Given the description of an element on the screen output the (x, y) to click on. 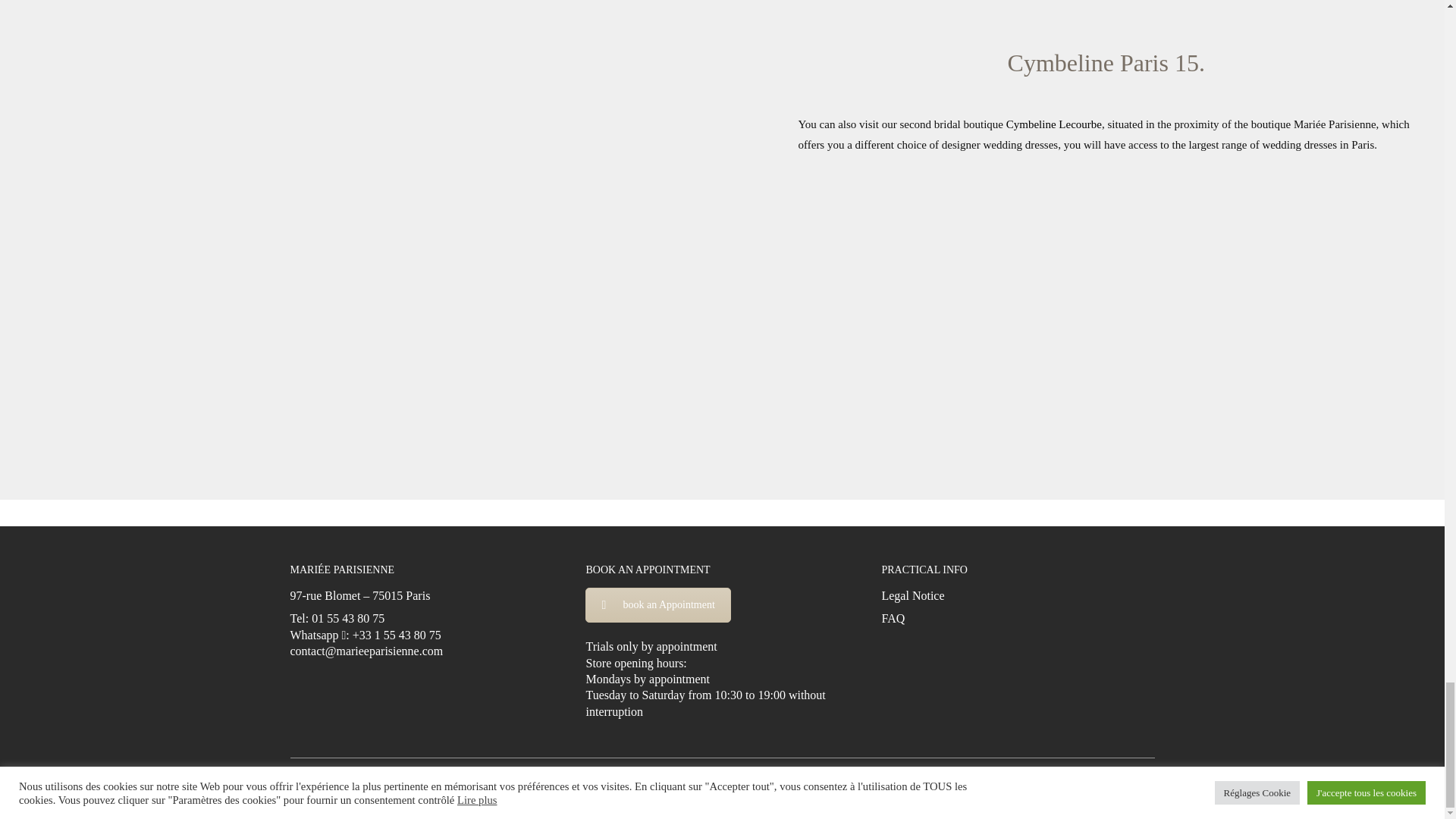
Facebook (873, 784)
WhatsApp (987, 784)
YouTube (948, 784)
TikTok (1025, 784)
Instagram (911, 784)
Email (1101, 784)
Phone (1063, 784)
